Given the description of an element on the screen output the (x, y) to click on. 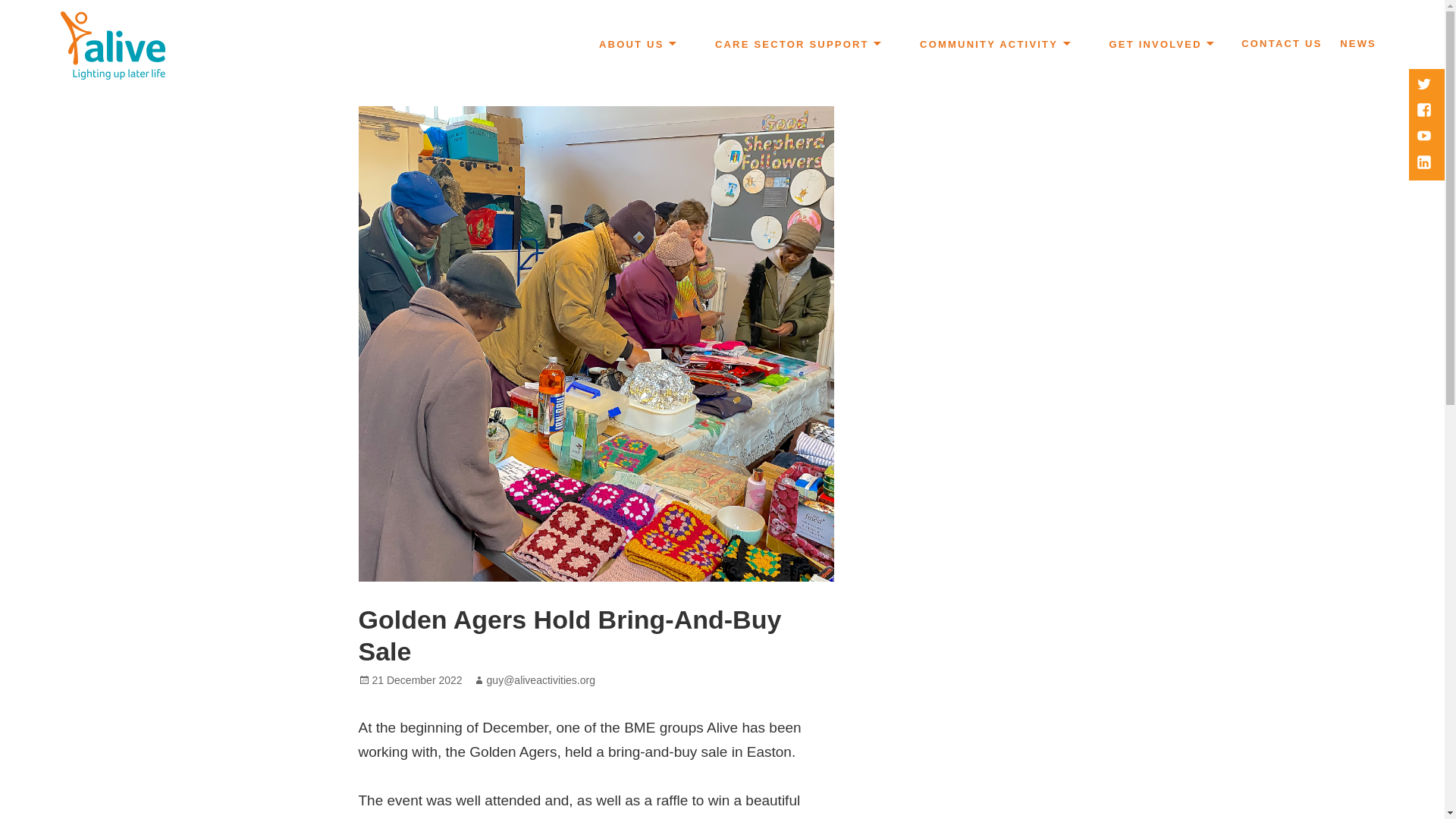
COMMUNITY ACTIVITY (994, 45)
ABOUT US (636, 45)
CARE SECTOR SUPPORT (797, 45)
Alive Activities (133, 92)
CONTACT US (1281, 45)
GET INVOLVED (1160, 45)
